Given the description of an element on the screen output the (x, y) to click on. 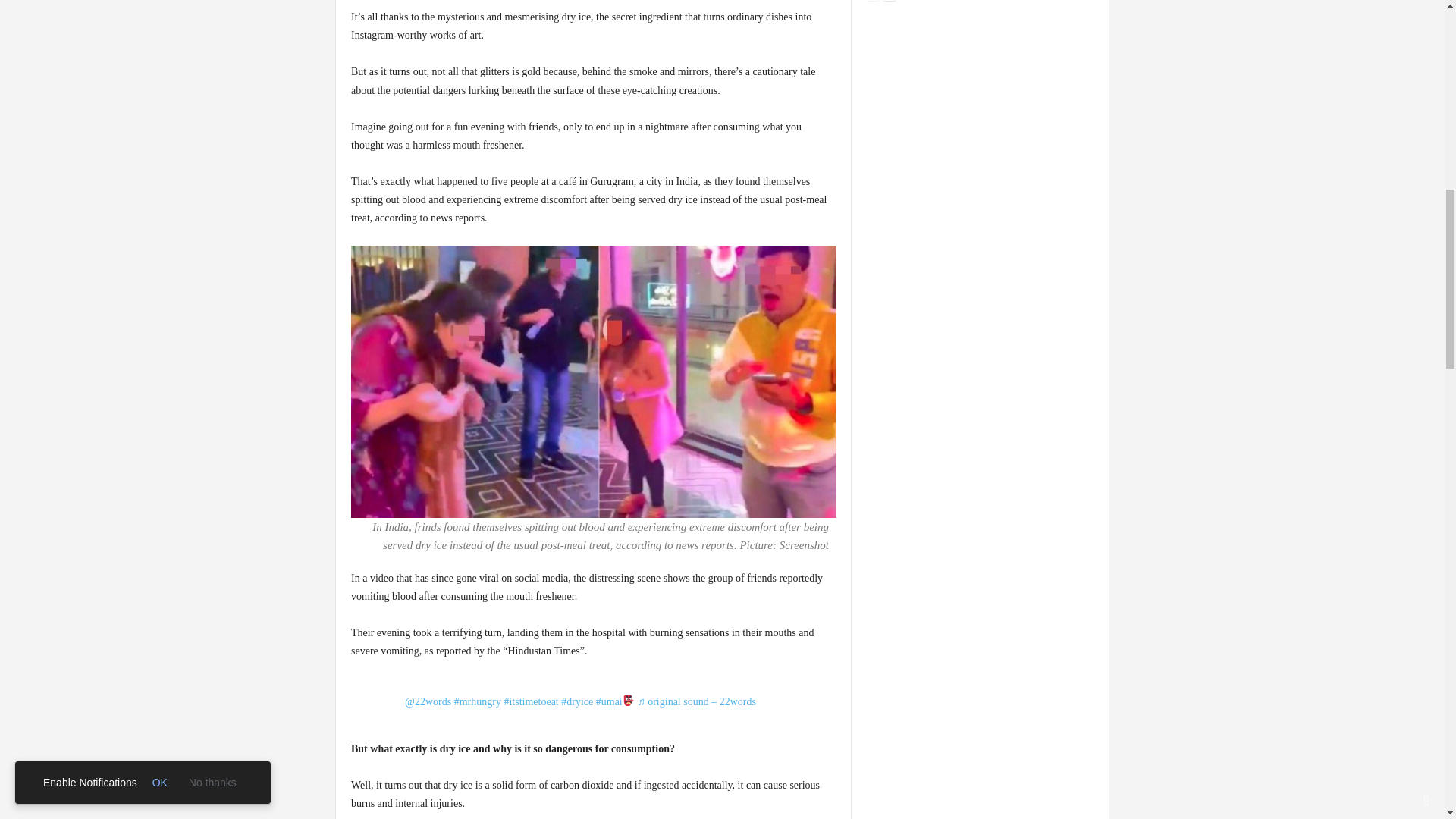
mrhungry (477, 701)
